Given the description of an element on the screen output the (x, y) to click on. 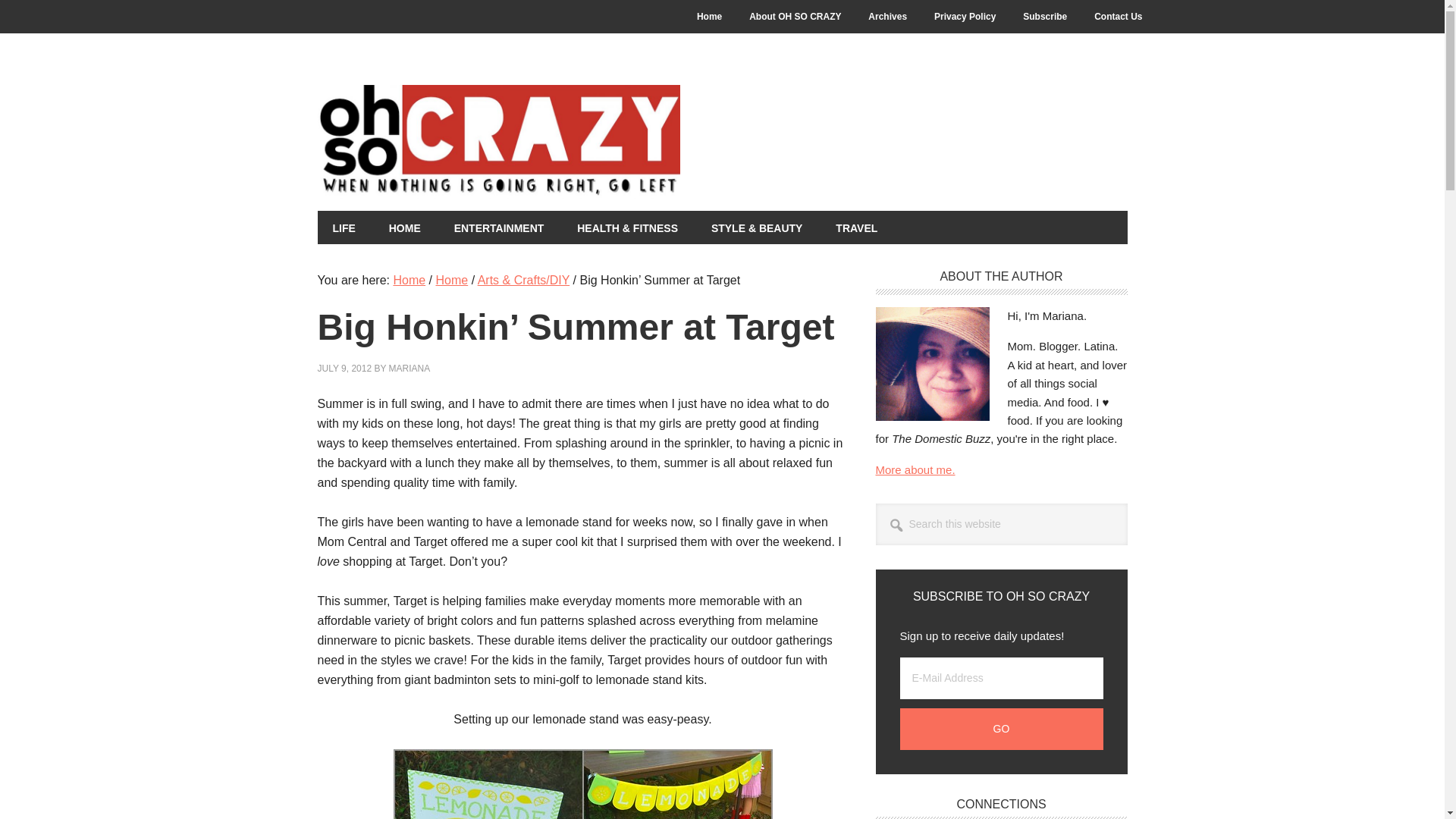
Go (1000, 729)
HOME (404, 227)
About OH SO CRAZY (794, 16)
Lemonade stand collage 2 by MrsMarianaP, on Flickr (582, 784)
LIFE (343, 227)
Home (708, 16)
OH SO CRAZY (582, 142)
Privacy Policy (964, 16)
Contact Us (1117, 16)
Archives (887, 16)
Subscribe (1044, 16)
